Given the description of an element on the screen output the (x, y) to click on. 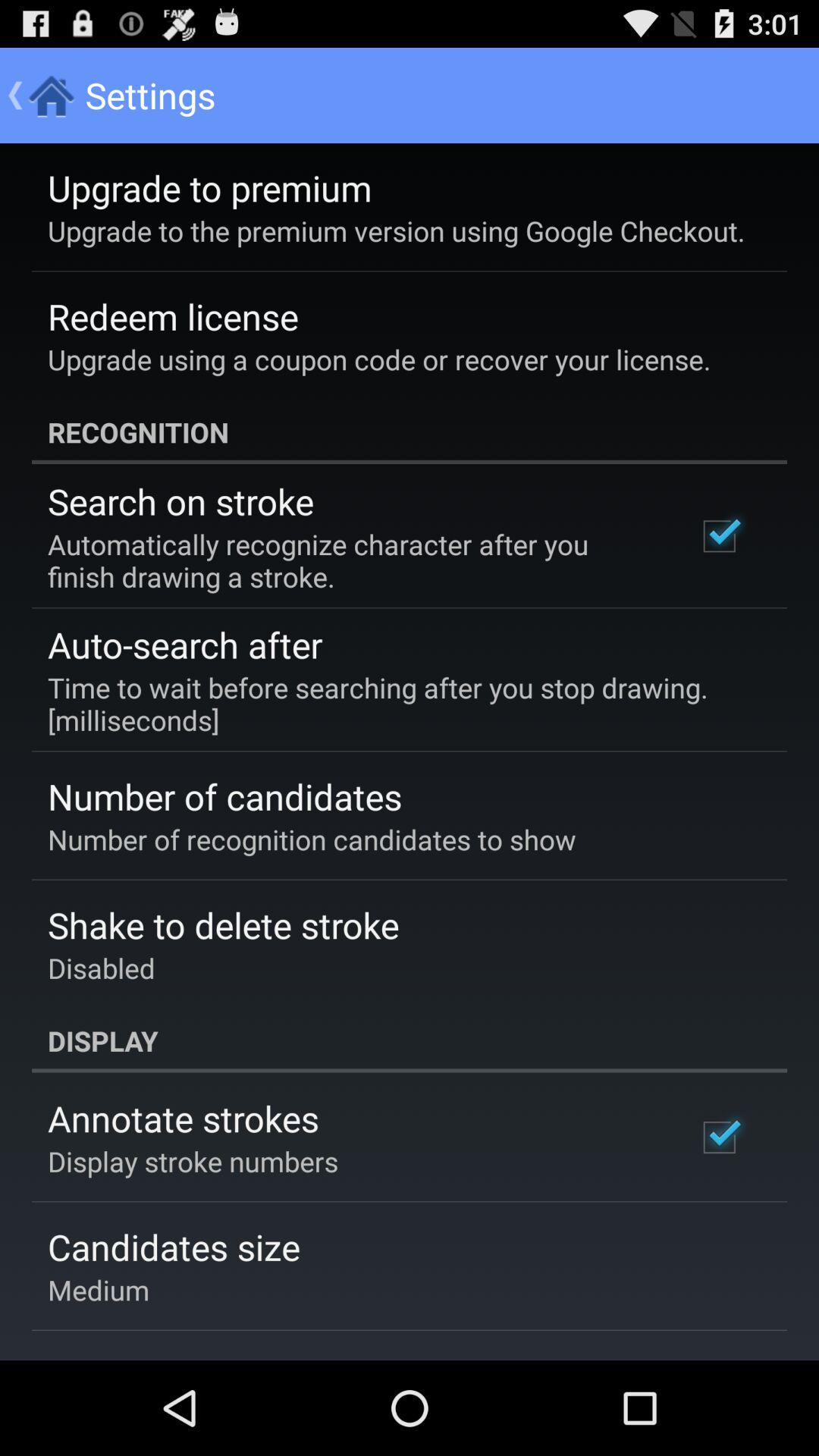
swipe until the redeem license app (172, 316)
